Given the description of an element on the screen output the (x, y) to click on. 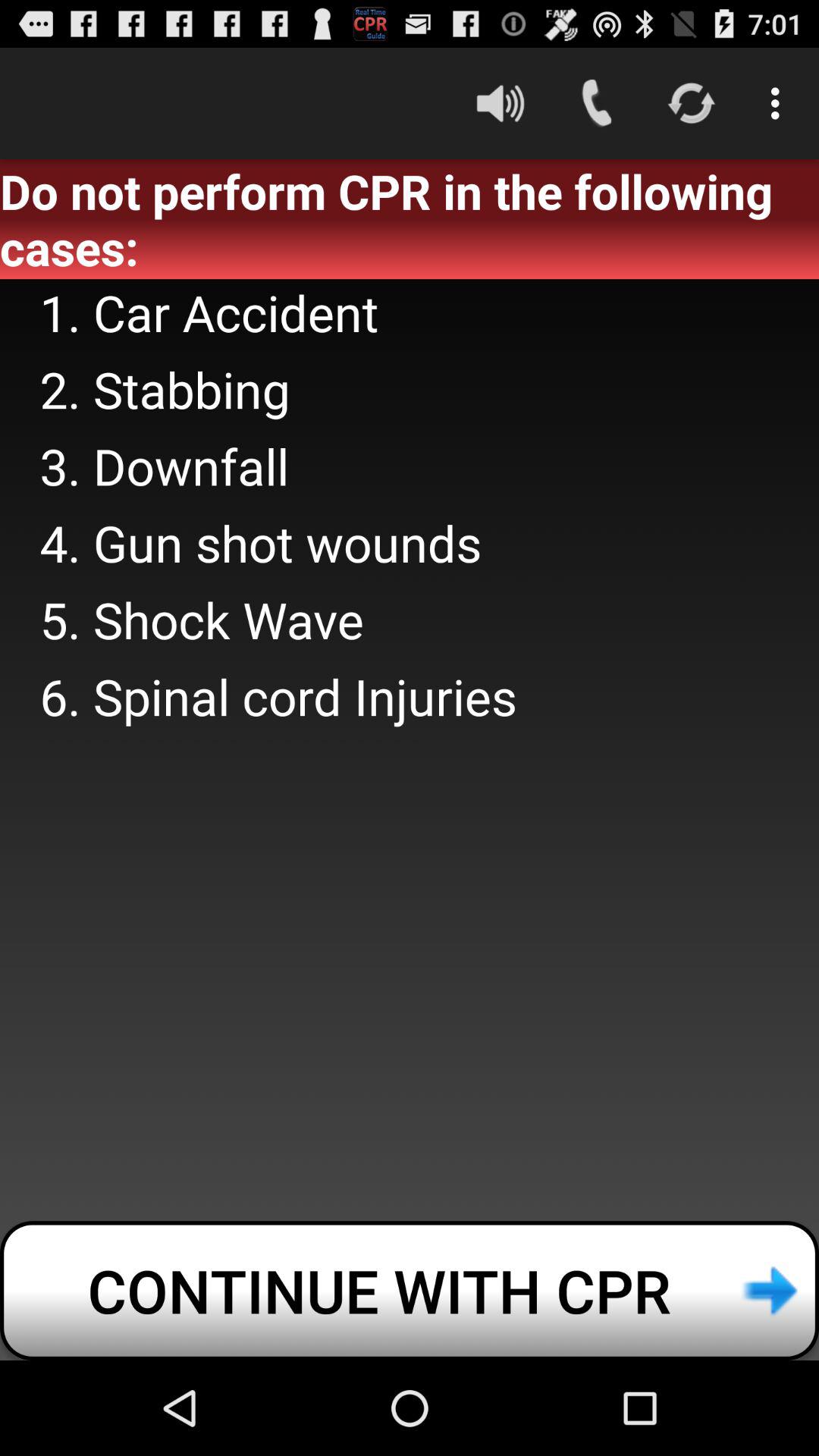
press the icon below 6 spinal cord item (409, 1290)
